Given the description of an element on the screen output the (x, y) to click on. 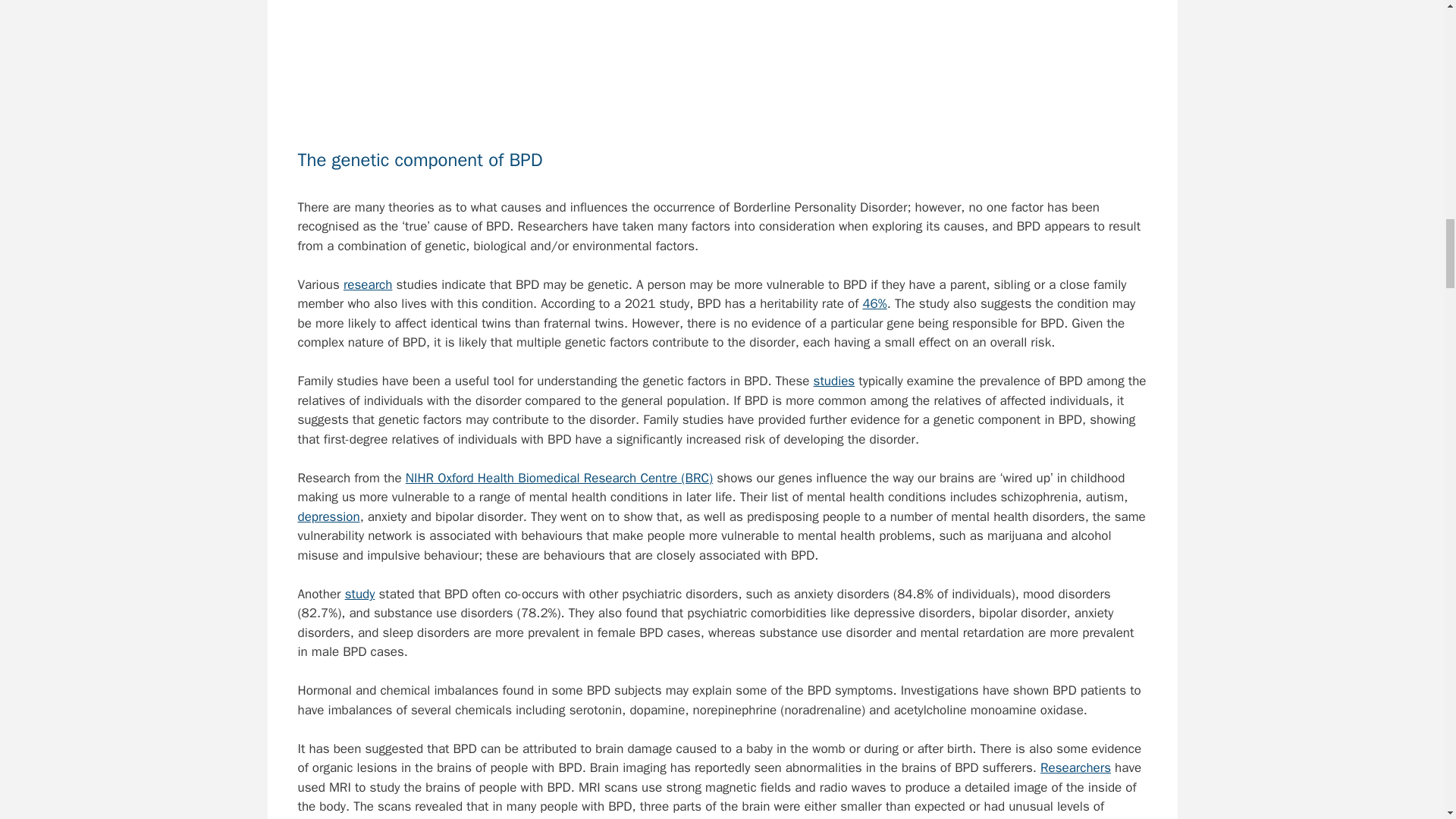
depression (328, 516)
research (368, 284)
Researchers (1075, 767)
study (360, 593)
The genetic component of BPD (722, 61)
studies (834, 381)
